Given the description of an element on the screen output the (x, y) to click on. 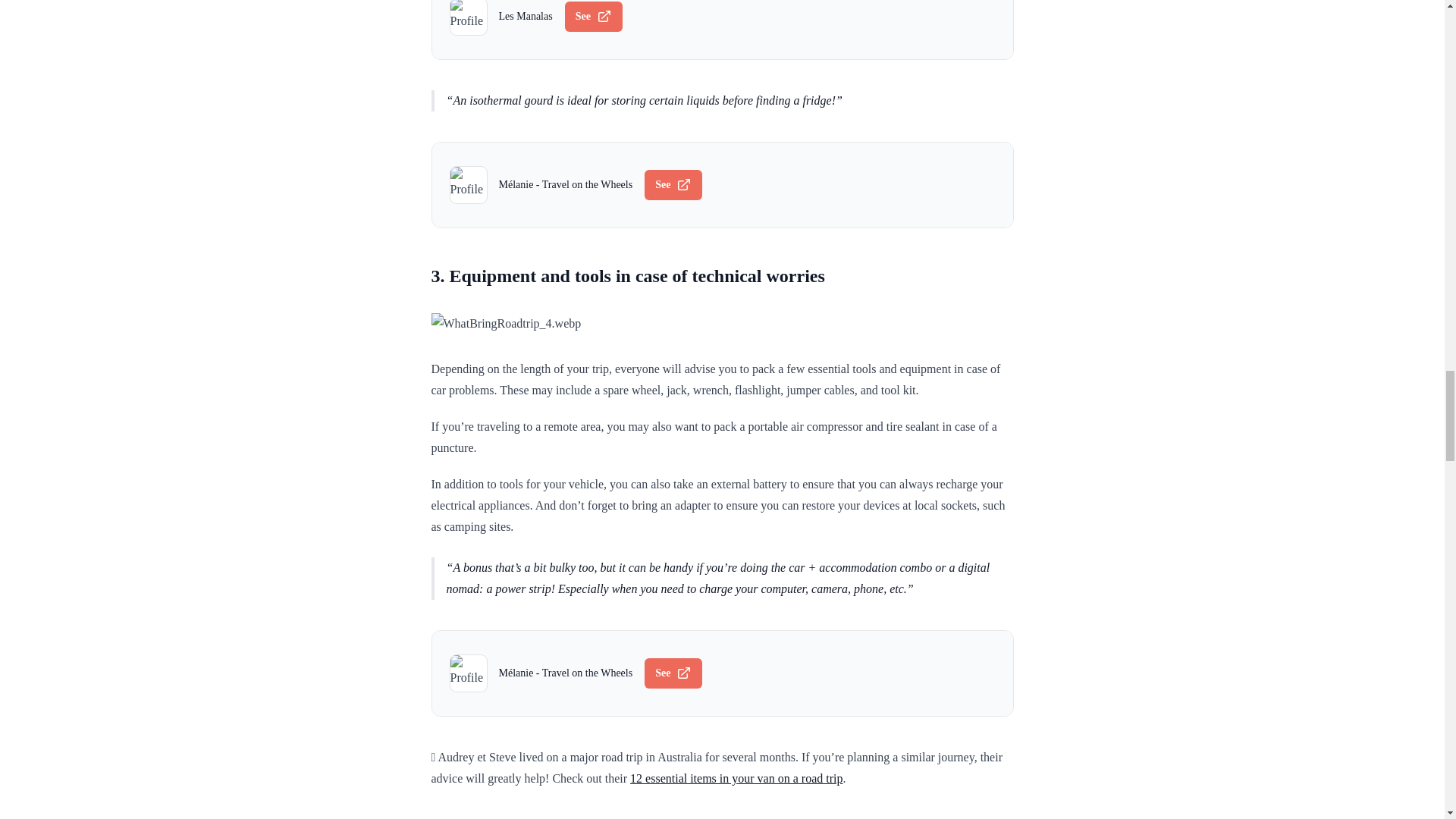
12 essential items in your van on a road trip (736, 778)
See (673, 673)
See (593, 16)
See (673, 184)
